Given the description of an element on the screen output the (x, y) to click on. 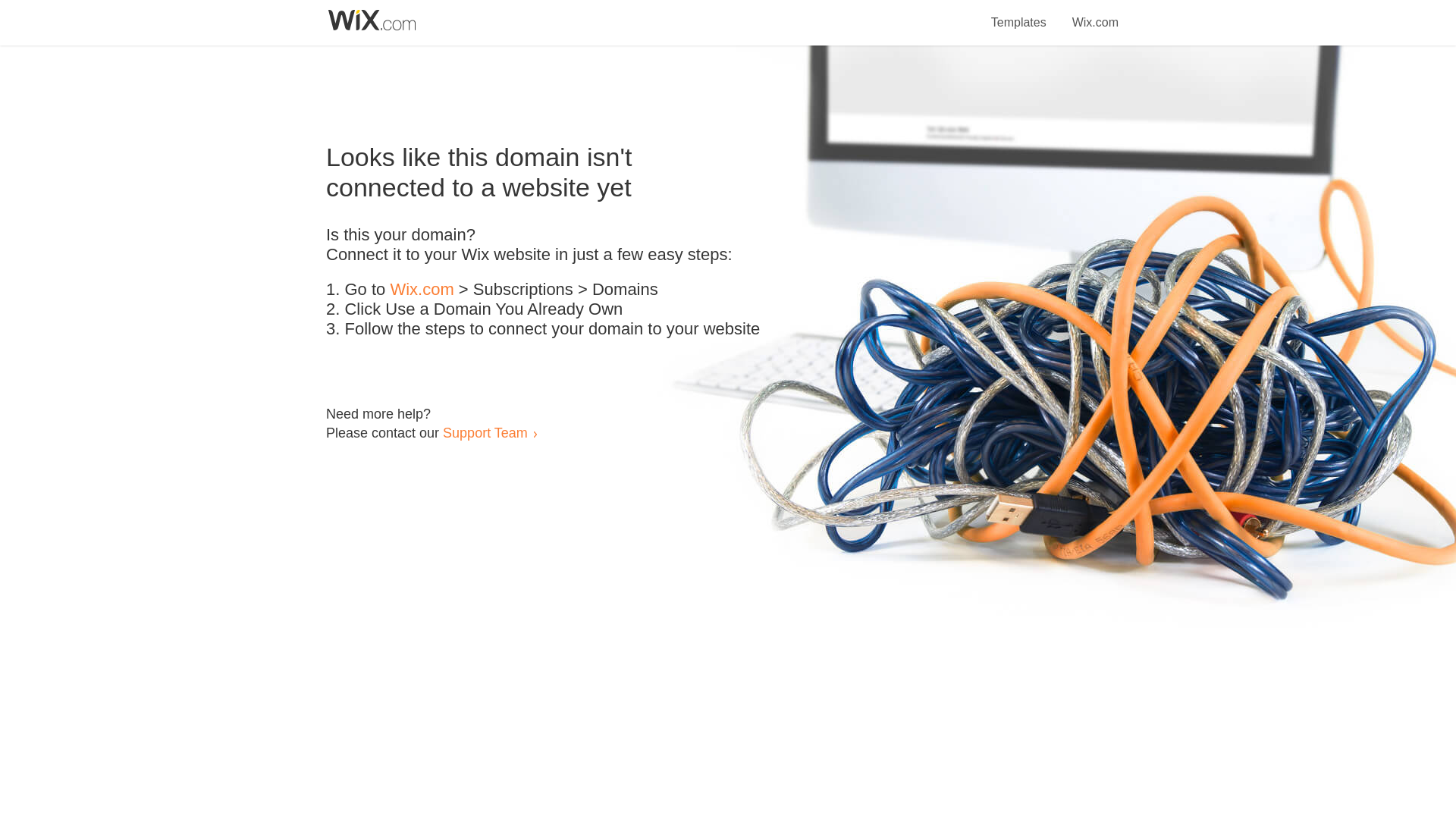
Support Team (484, 432)
Wix.com (421, 289)
Templates (1018, 14)
Wix.com (1095, 14)
